Given the description of an element on the screen output the (x, y) to click on. 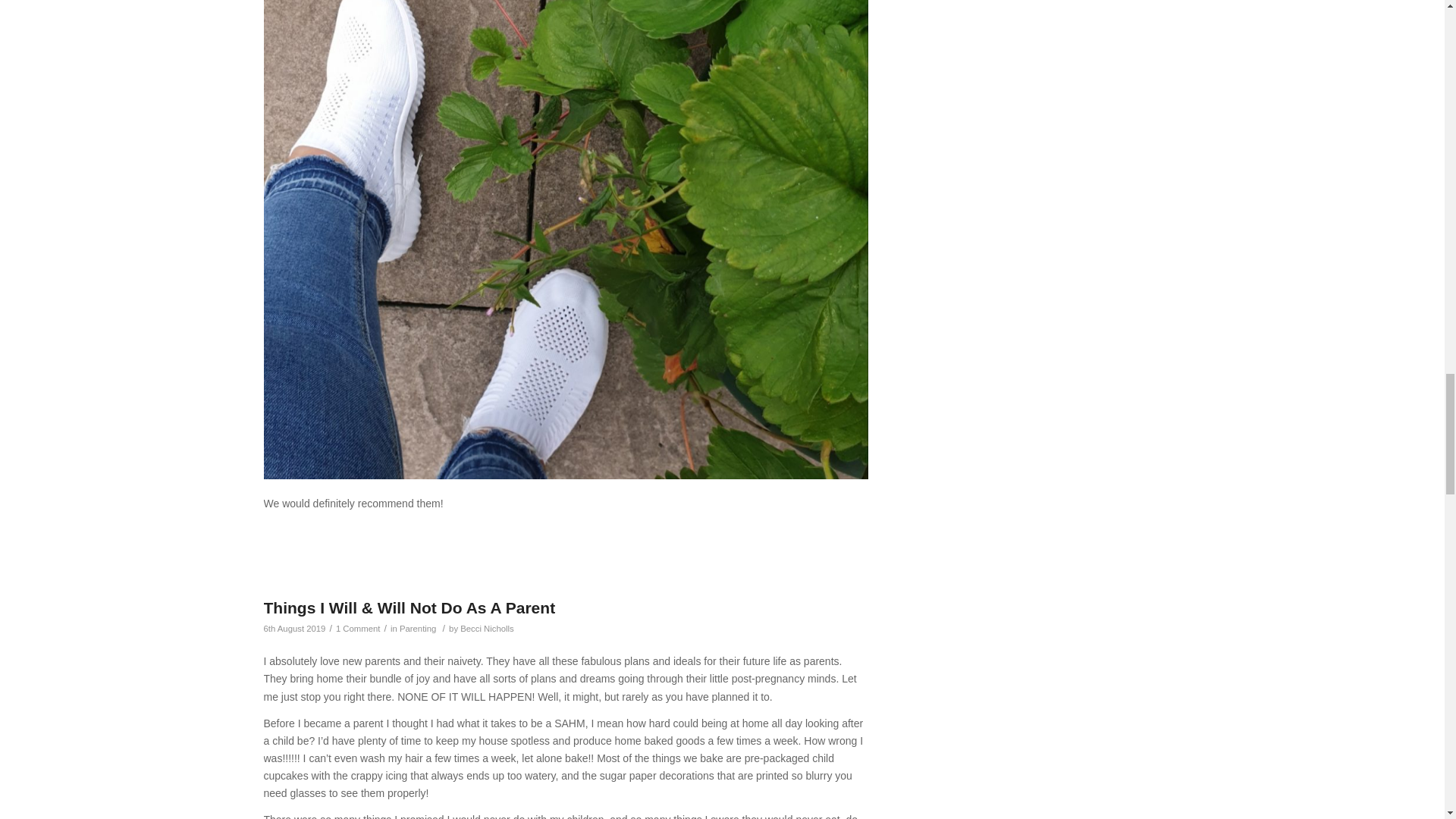
1 Comment (358, 628)
Parenting (417, 628)
Posts by Becci Nicholls (486, 628)
Becci Nicholls (486, 628)
